Given the description of an element on the screen output the (x, y) to click on. 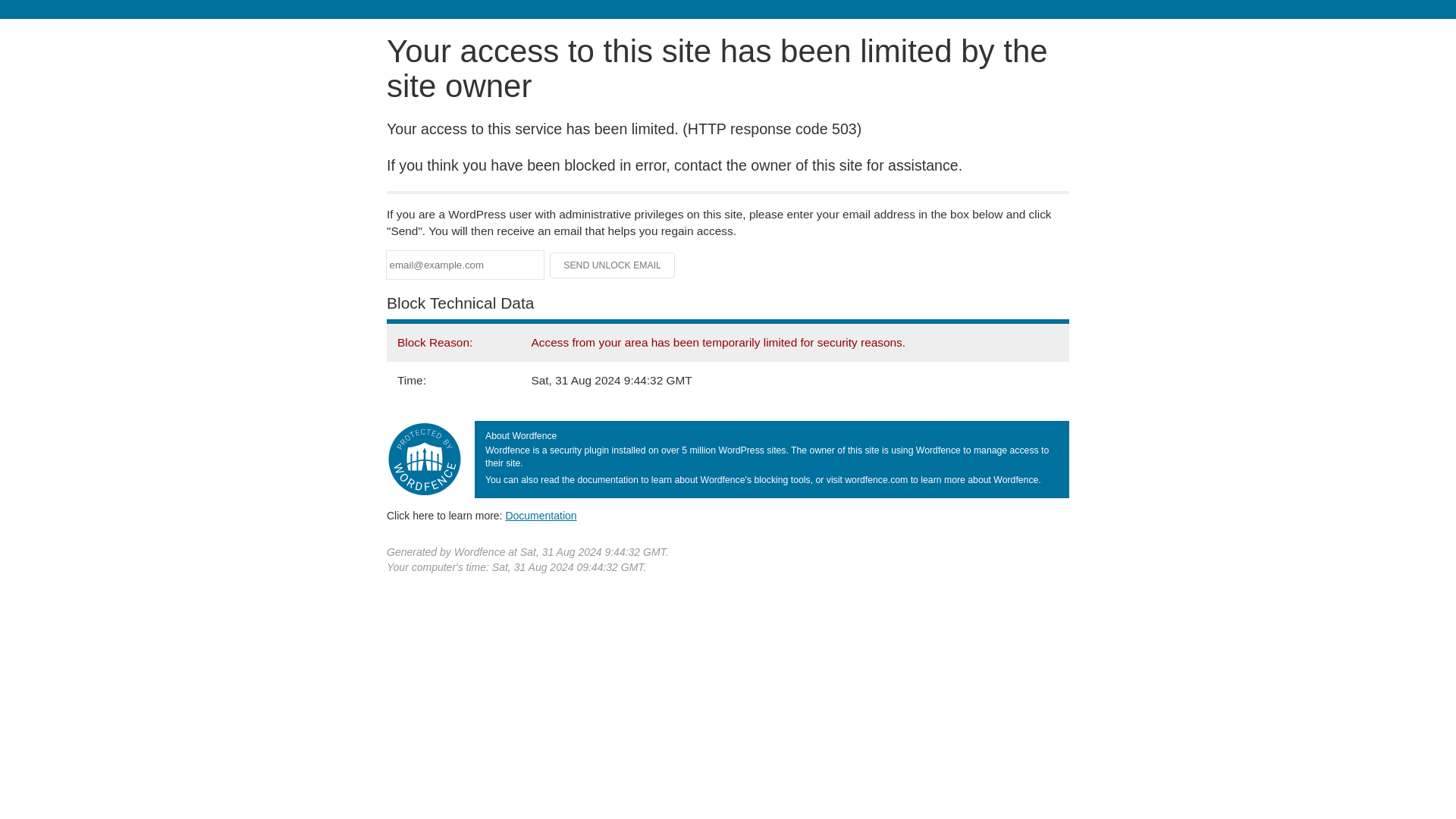
Send Unlock Email (612, 265)
Documentation (540, 515)
Send Unlock Email (612, 265)
